Given the description of an element on the screen output the (x, y) to click on. 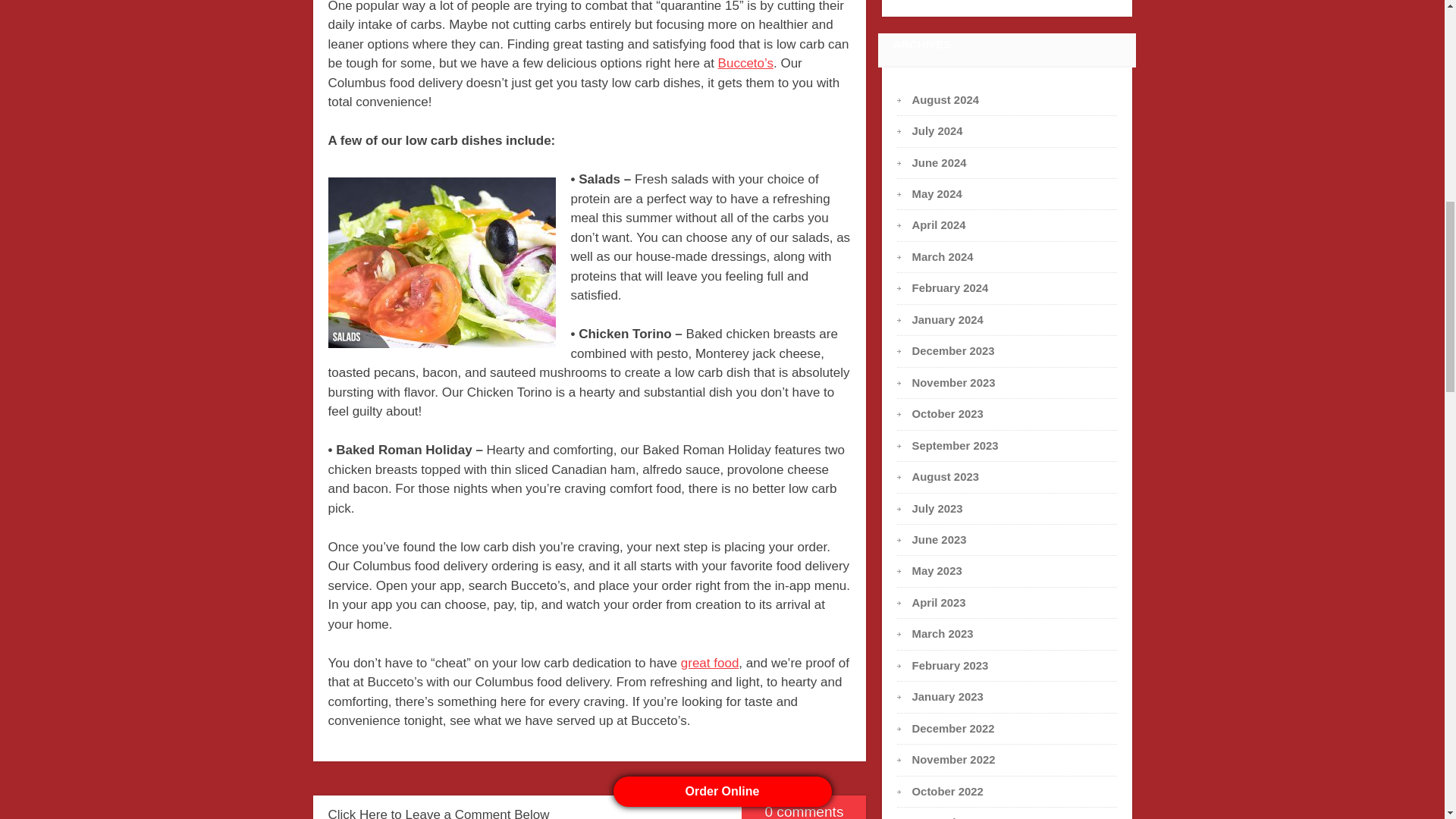
March 2024 (943, 256)
June 2024 (939, 162)
great food (710, 663)
July 2024 (937, 131)
May 2024 (937, 193)
February 2024 (950, 287)
August 2024 (945, 100)
April 2024 (939, 224)
